Given the description of an element on the screen output the (x, y) to click on. 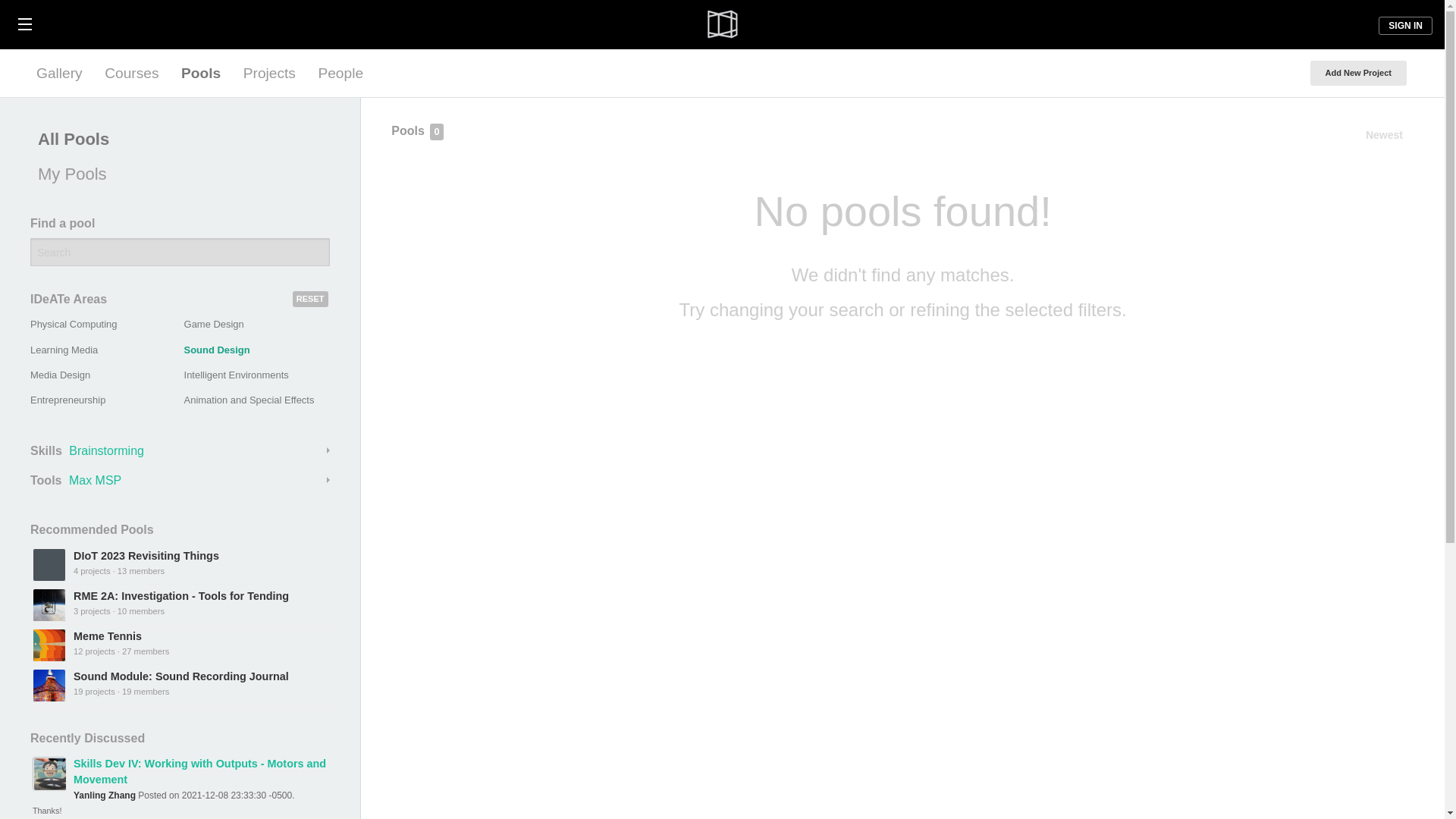
My Pools (175, 174)
Gallery (59, 73)
Pools (200, 73)
Animation and Special Effects (249, 399)
Media Design (60, 374)
Learning Media (63, 349)
Physical Computing (73, 324)
RESET (310, 299)
People (340, 73)
Add New Project (1358, 72)
